Given the description of an element on the screen output the (x, y) to click on. 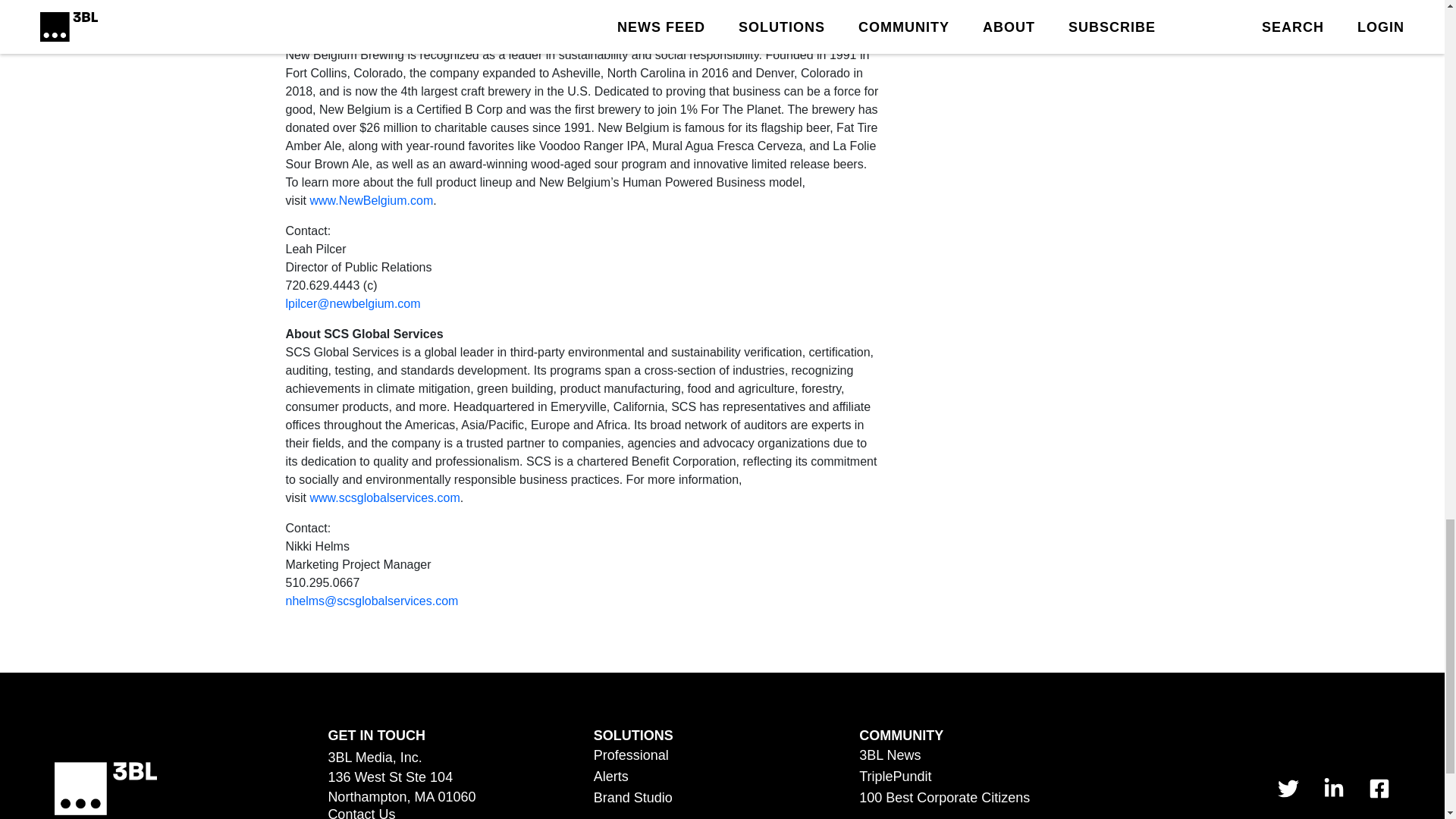
link to 3 B L Media's Twitter (1288, 788)
link to 3 B L Media's Facebook (1379, 788)
link to 3 B L Media's Linkedin (1333, 788)
